Given the description of an element on the screen output the (x, y) to click on. 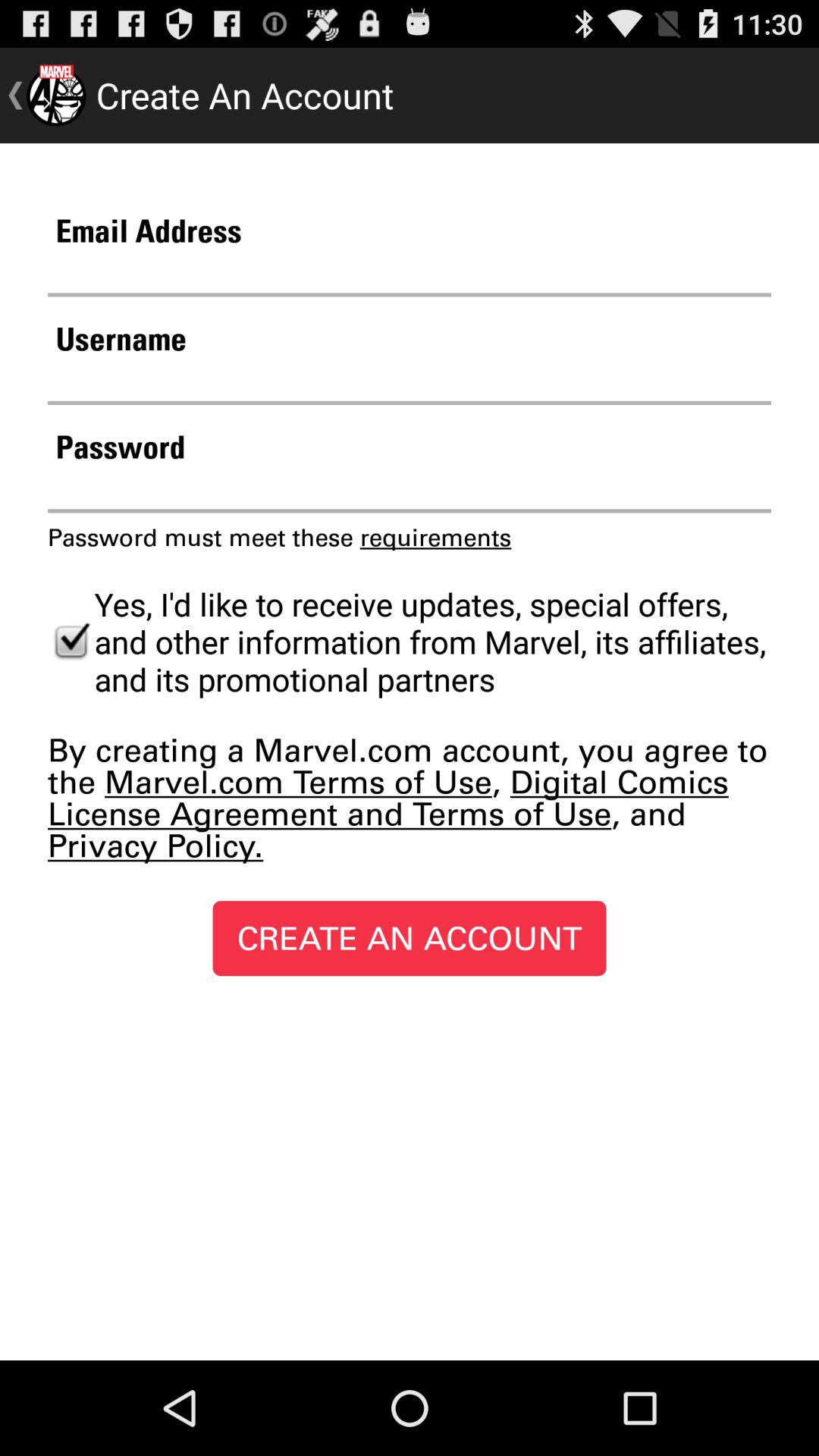
click create an account (409, 938)
select the check box with its text (409, 641)
select the immediate statement under the password field (279, 536)
